Given the description of an element on the screen output the (x, y) to click on. 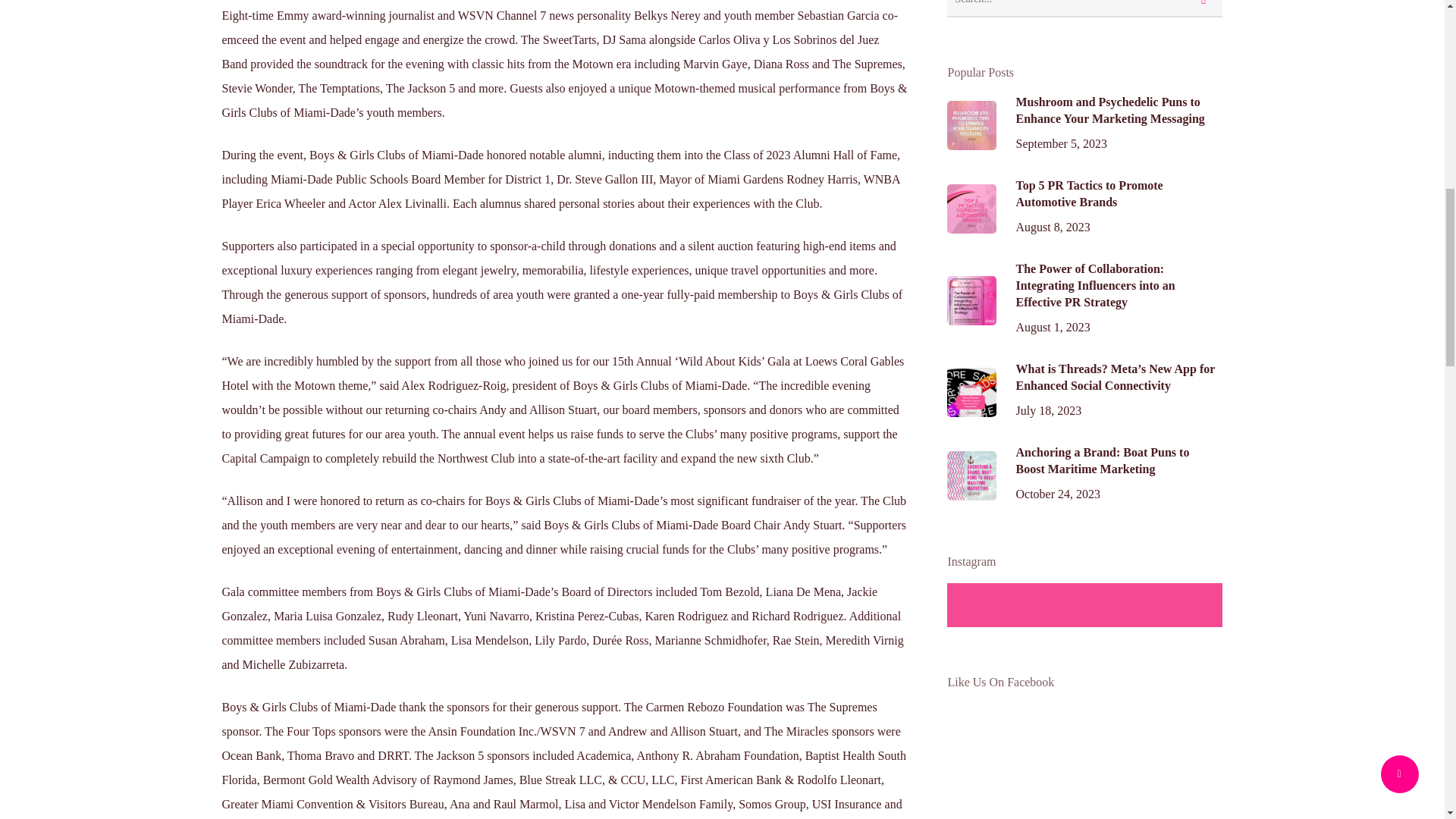
Search for: (1085, 8)
